Given the description of an element on the screen output the (x, y) to click on. 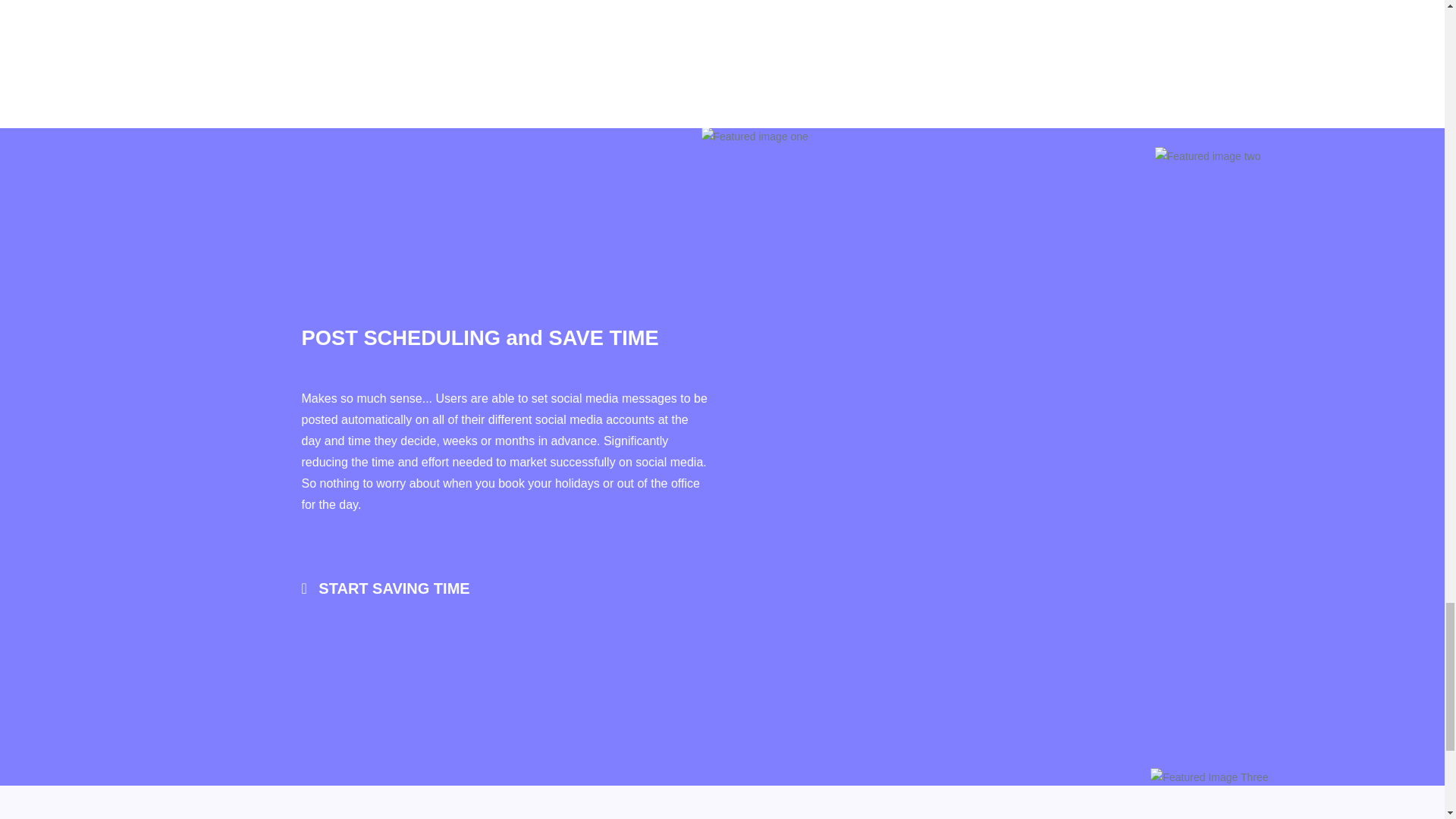
START SAVING TIME (385, 588)
